Given the description of an element on the screen output the (x, y) to click on. 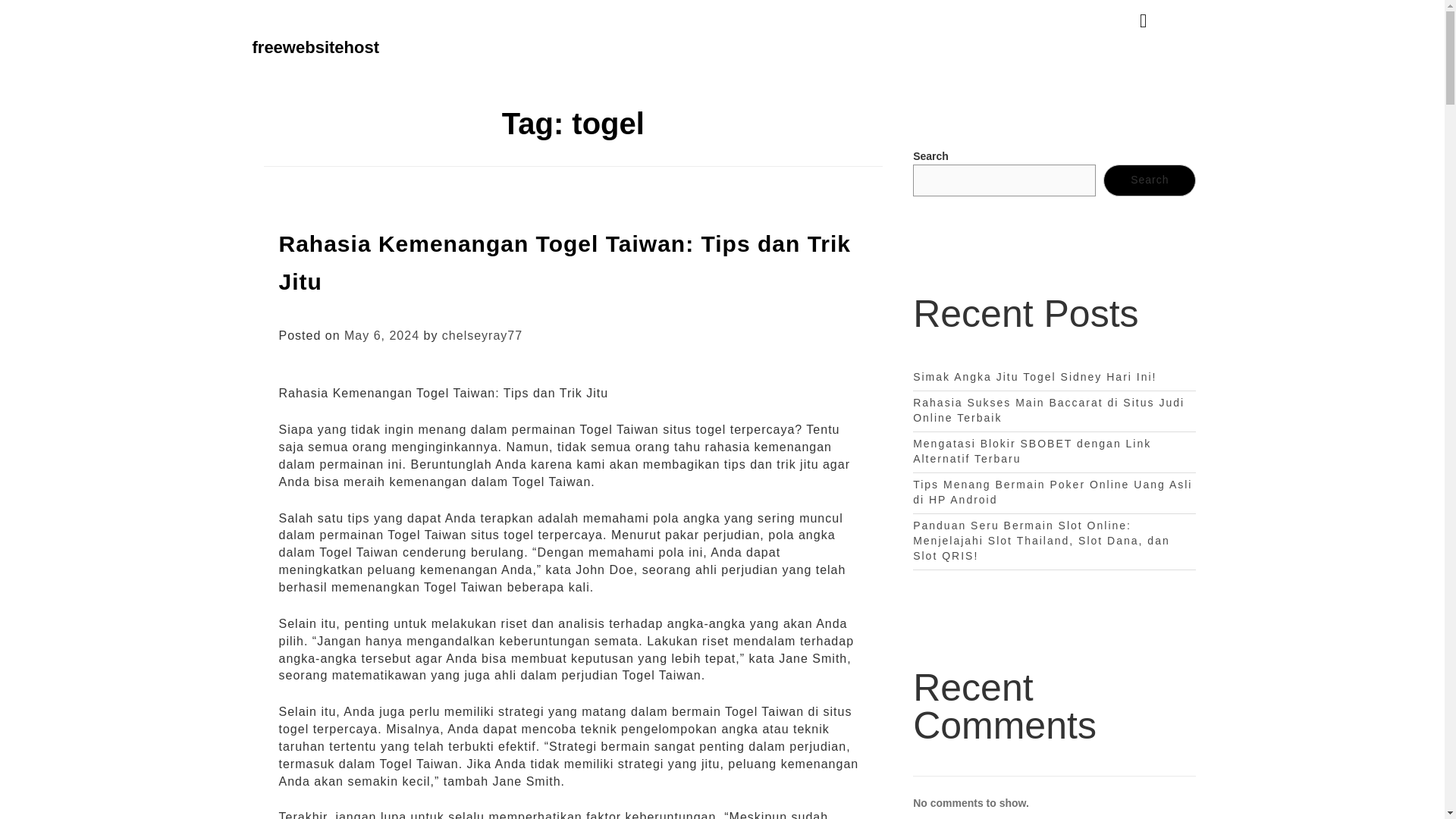
chelseyray77 (482, 335)
Rahasia Kemenangan Togel Taiwan: Tips dan Trik Jitu (565, 262)
May 6, 2024 (381, 335)
freewebsitehost (314, 46)
